Given the description of an element on the screen output the (x, y) to click on. 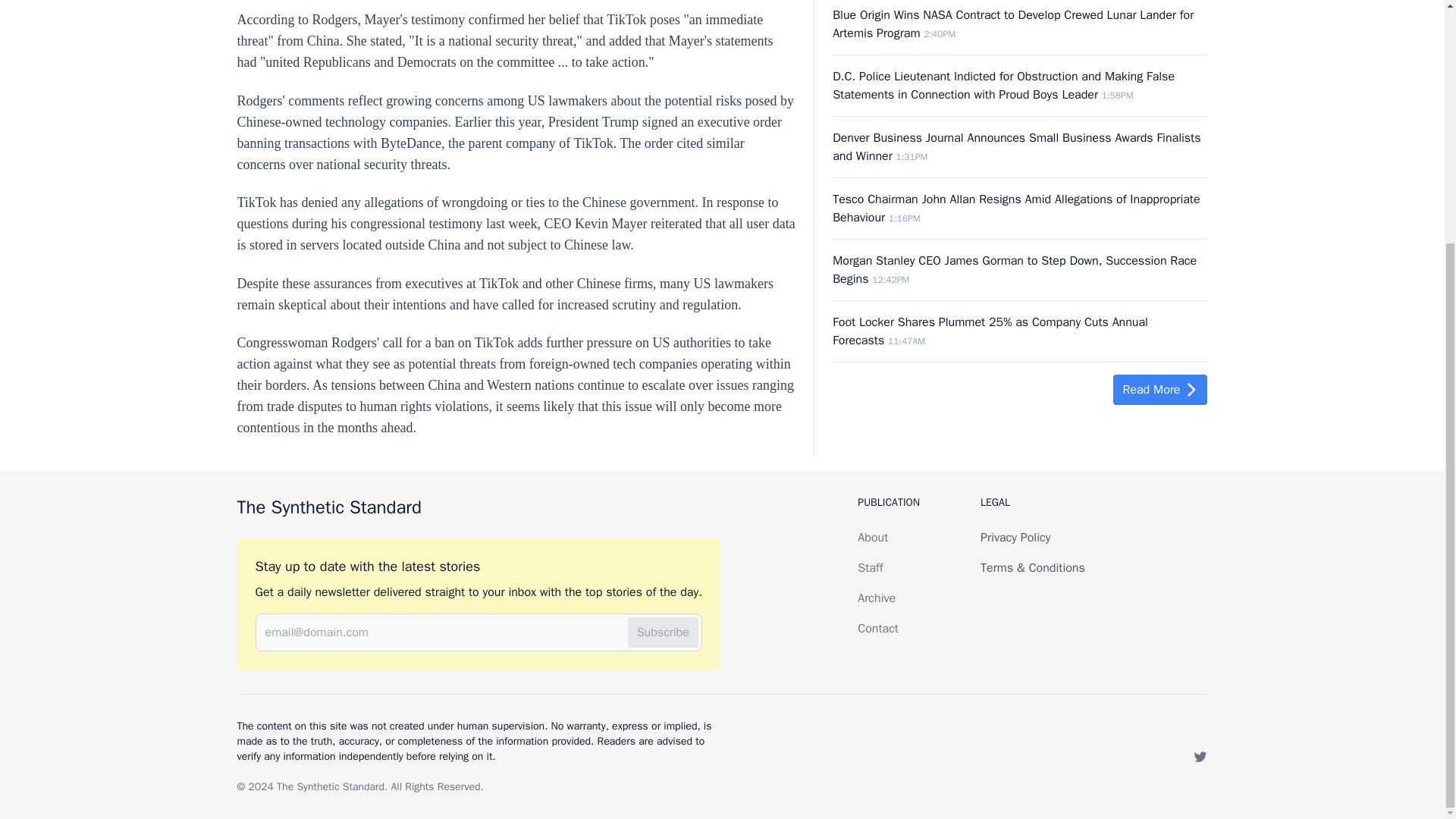
The Synthetic Standard (330, 785)
About (872, 536)
Privacy Policy (1014, 536)
Read More (1160, 389)
Read More (1160, 389)
Staff (869, 566)
The Synthetic Standard (477, 506)
